Given the description of an element on the screen output the (x, y) to click on. 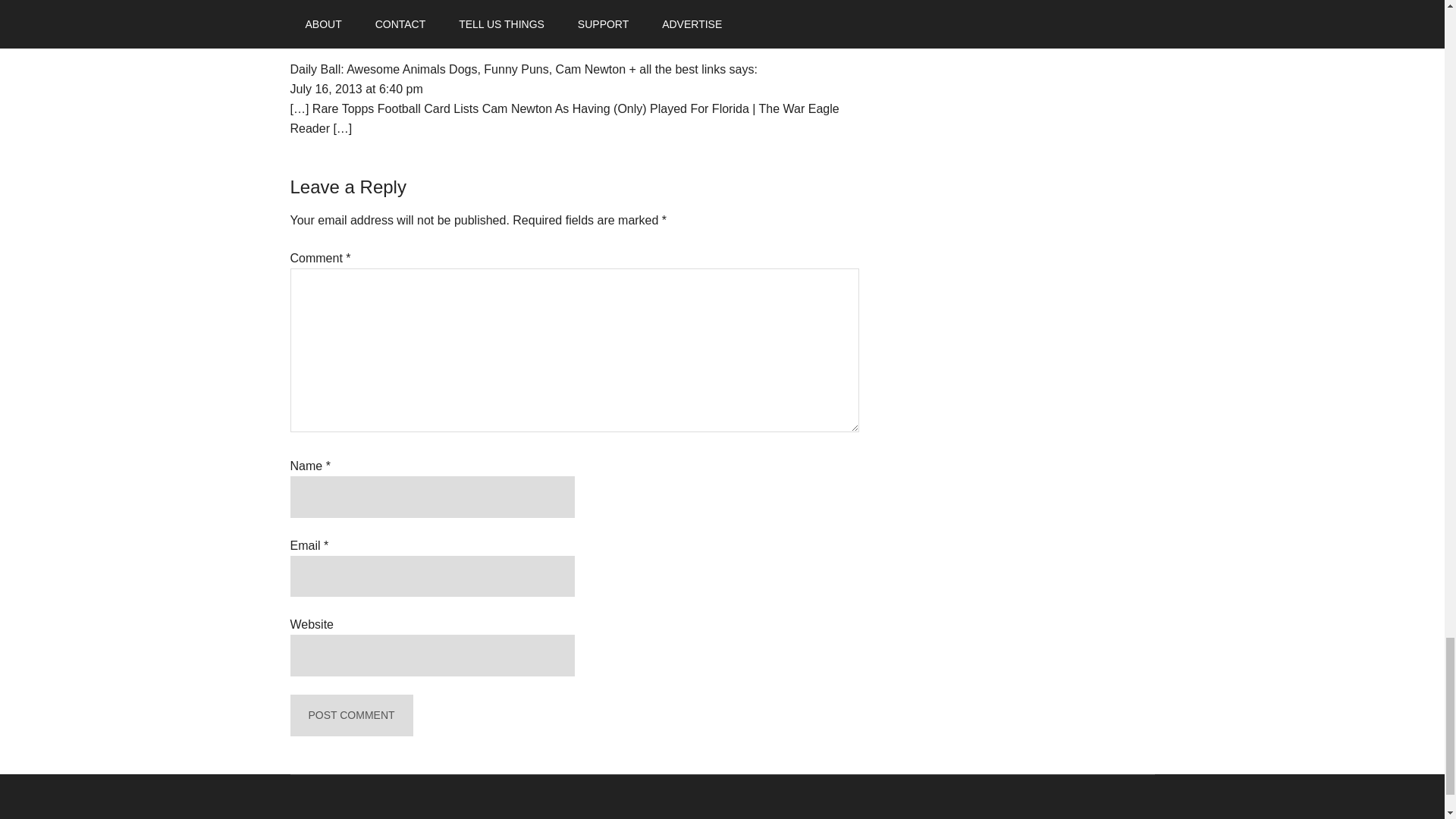
Post Comment (350, 715)
